Given the description of an element on the screen output the (x, y) to click on. 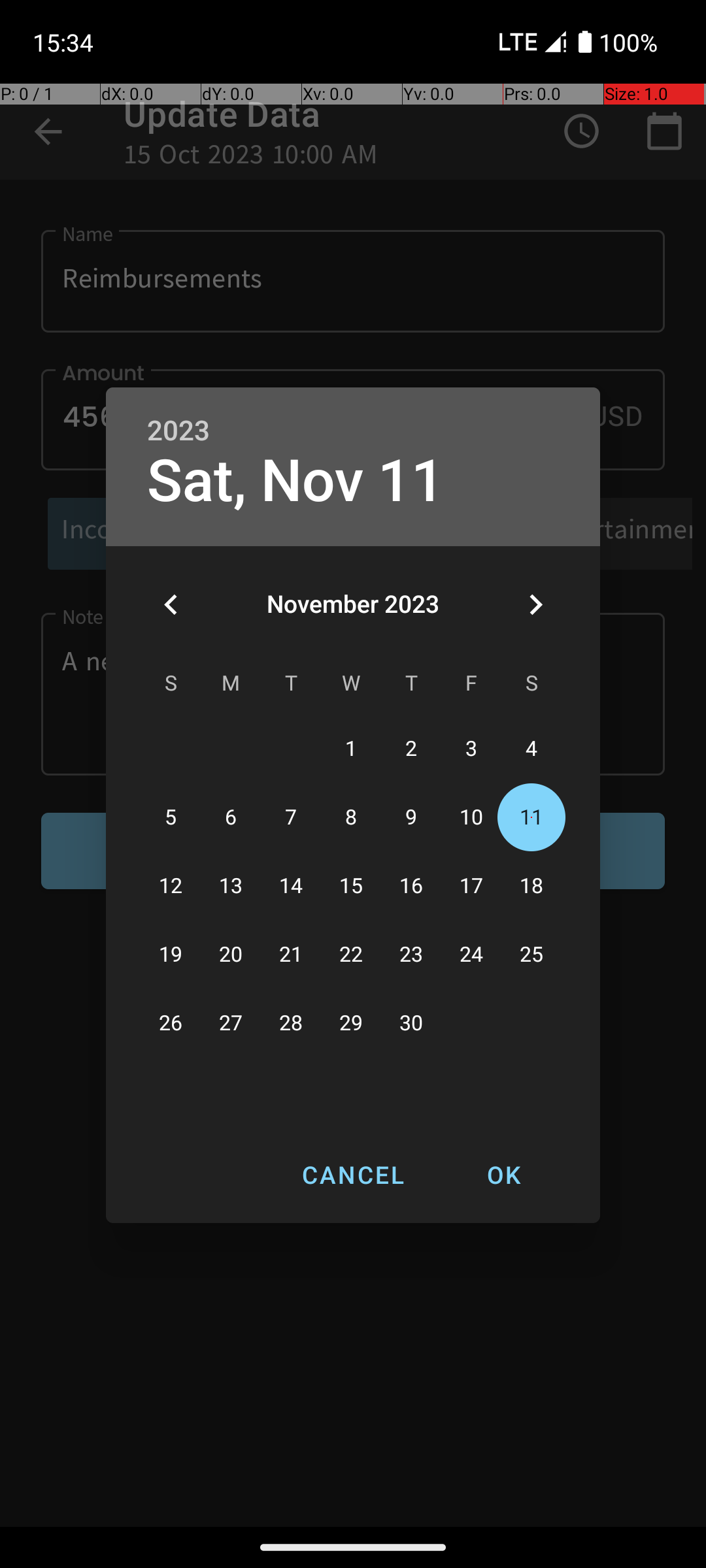
Sat, Nov 11 Element type: android.widget.TextView (296, 480)
